Given the description of an element on the screen output the (x, y) to click on. 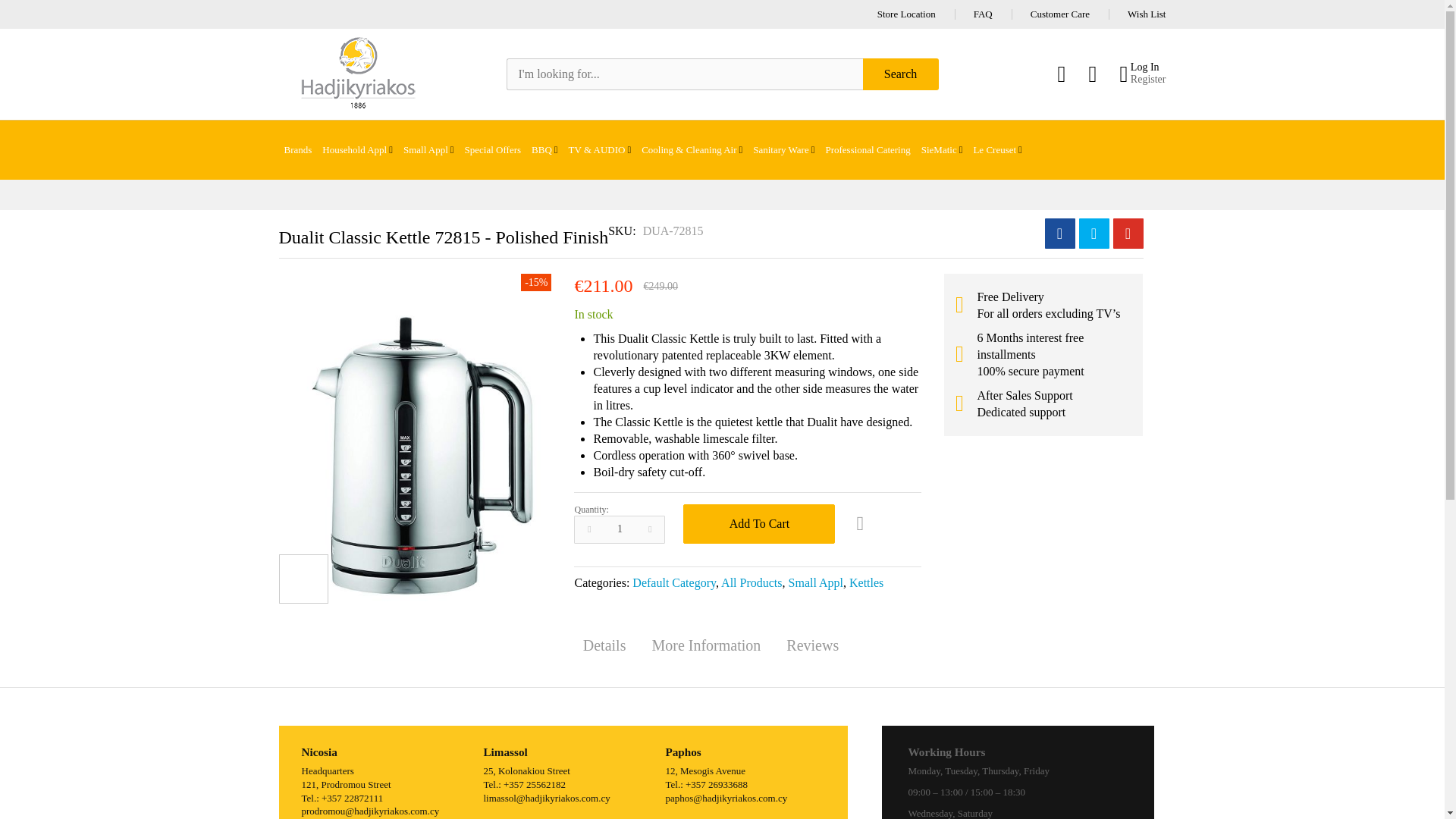
Customer Care (1059, 13)
Share via Gmail (1127, 233)
Share on Facebook (1060, 233)
Qty (619, 529)
Search (901, 74)
Availability (592, 314)
1 (619, 529)
Share on Twitter (1093, 233)
FAQ (983, 13)
Wish List (1146, 13)
Add to Cart (758, 523)
Store Location (906, 13)
